Given the description of an element on the screen output the (x, y) to click on. 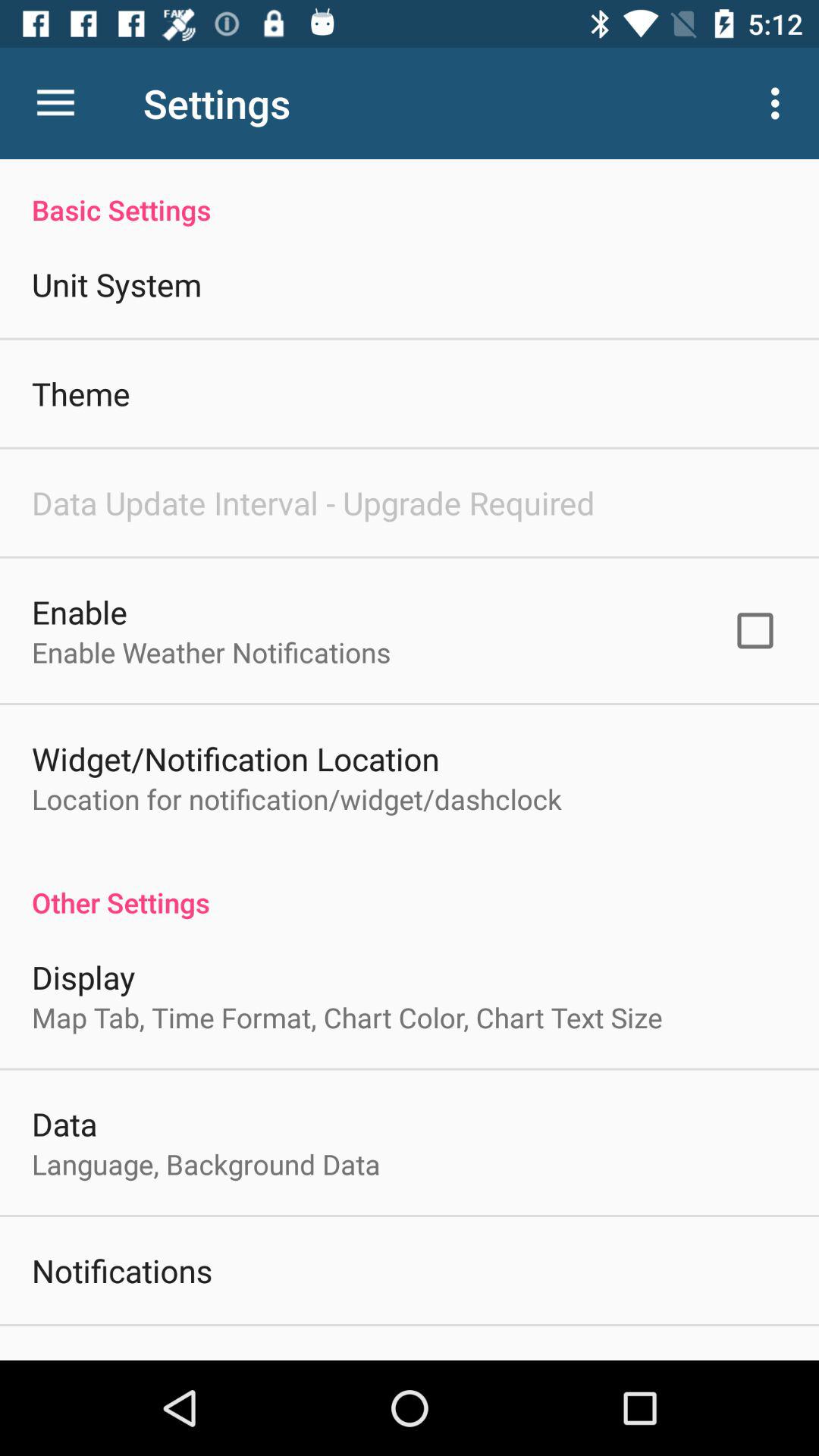
open the map tab time icon (346, 1017)
